Given the description of an element on the screen output the (x, y) to click on. 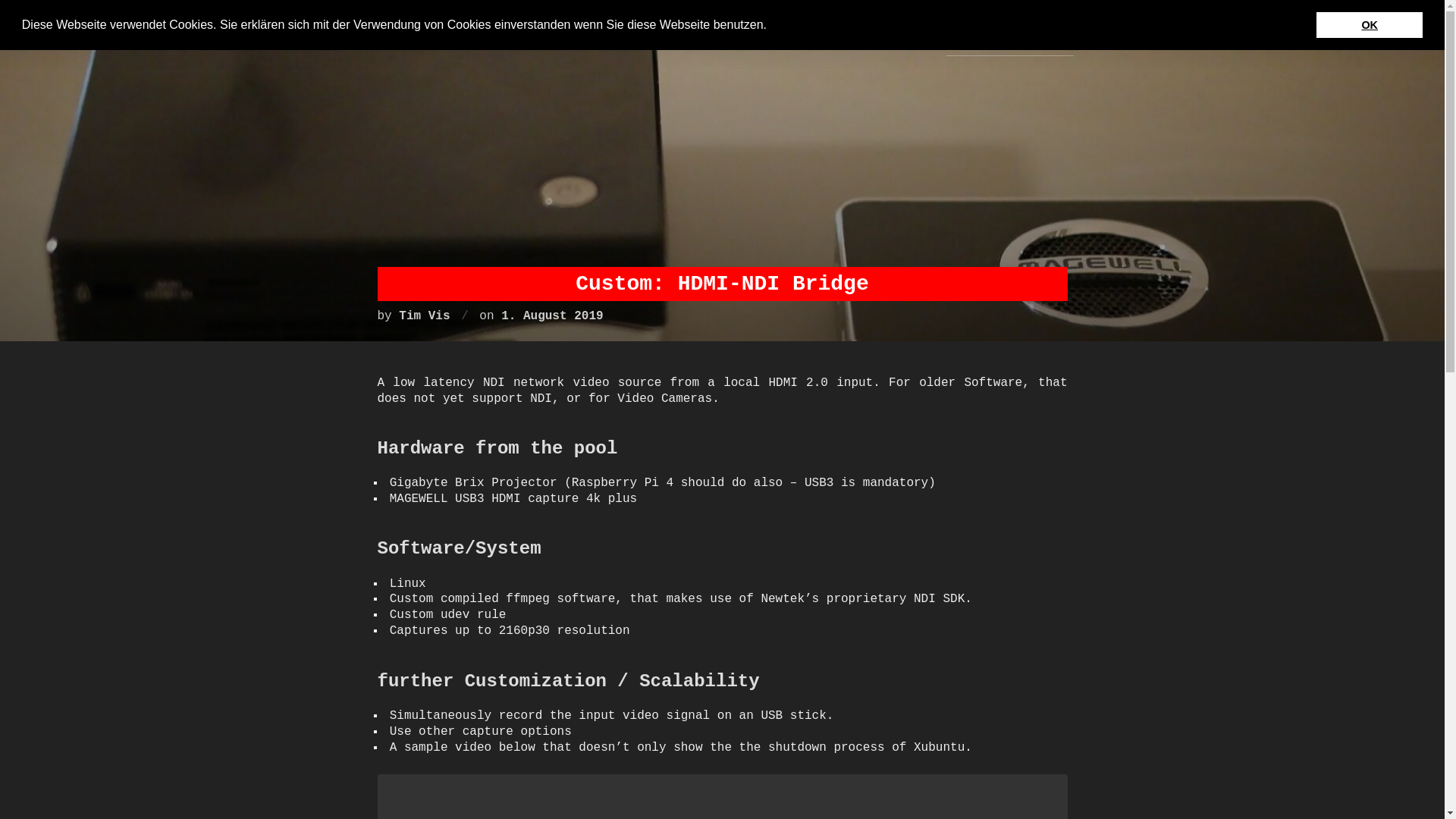
Customized gizmos and decorations with light. (324, 35)
OK (1369, 24)
Contact (1119, 34)
1. August 2019 (551, 315)
Tim Vis (423, 315)
Custom Solutions (1009, 34)
TIMVIS (324, 35)
Equipment (887, 34)
EEXpat (806, 34)
